Given the description of an element on the screen output the (x, y) to click on. 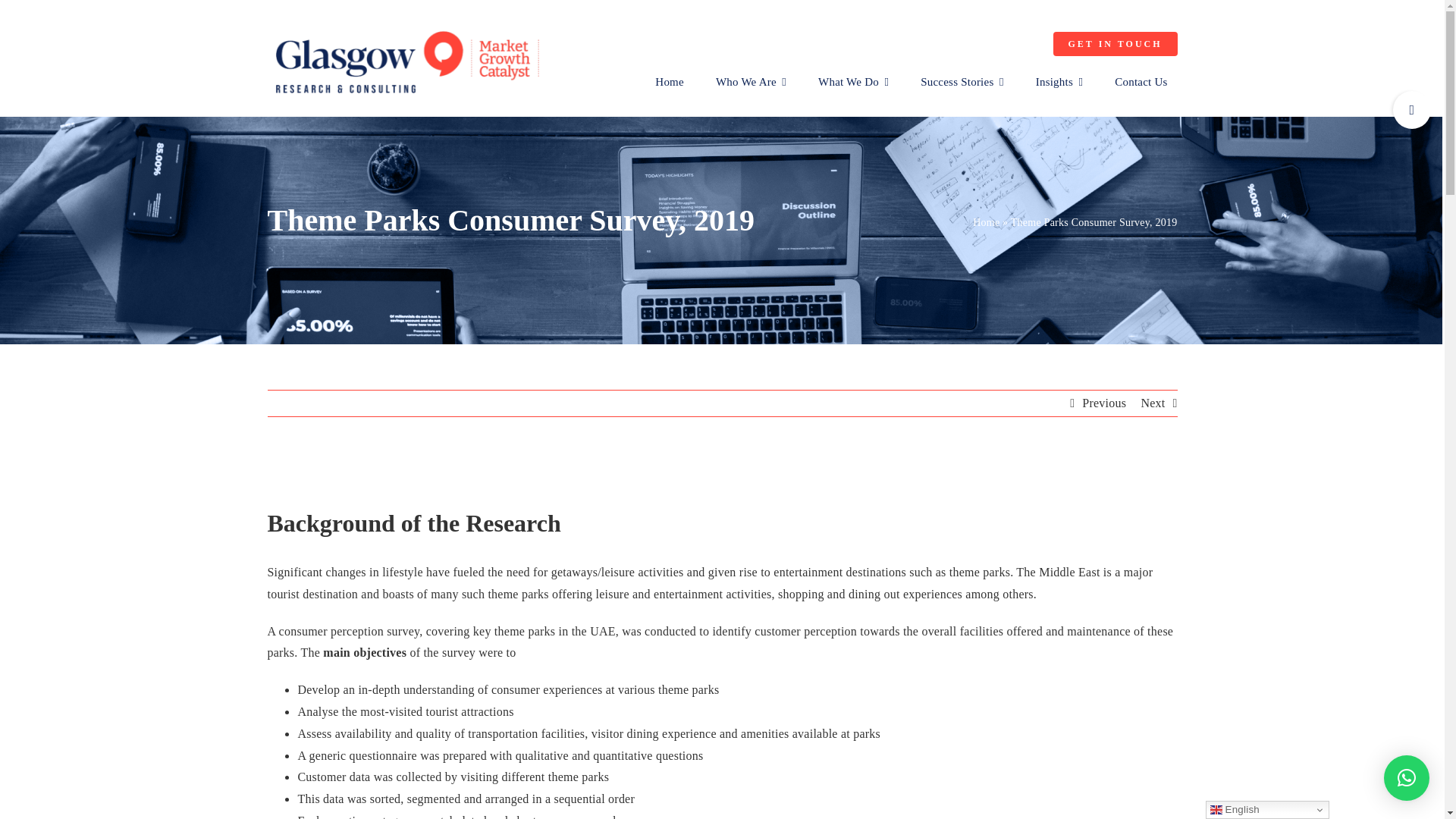
Who We Are (751, 82)
Home (669, 82)
What We Do (853, 82)
GET IN TOUCH (1114, 43)
